Given the description of an element on the screen output the (x, y) to click on. 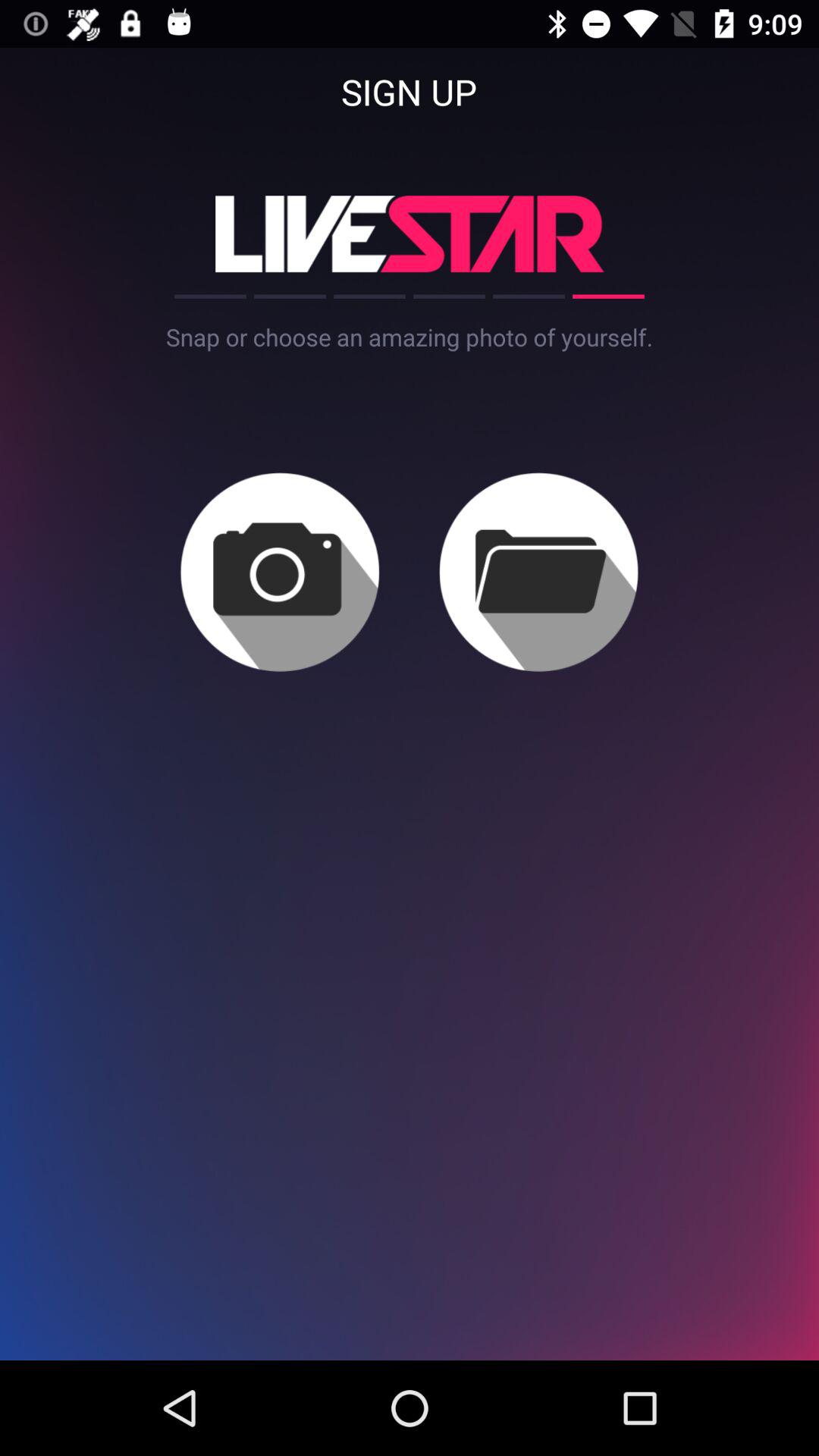
file folder (538, 571)
